Given the description of an element on the screen output the (x, y) to click on. 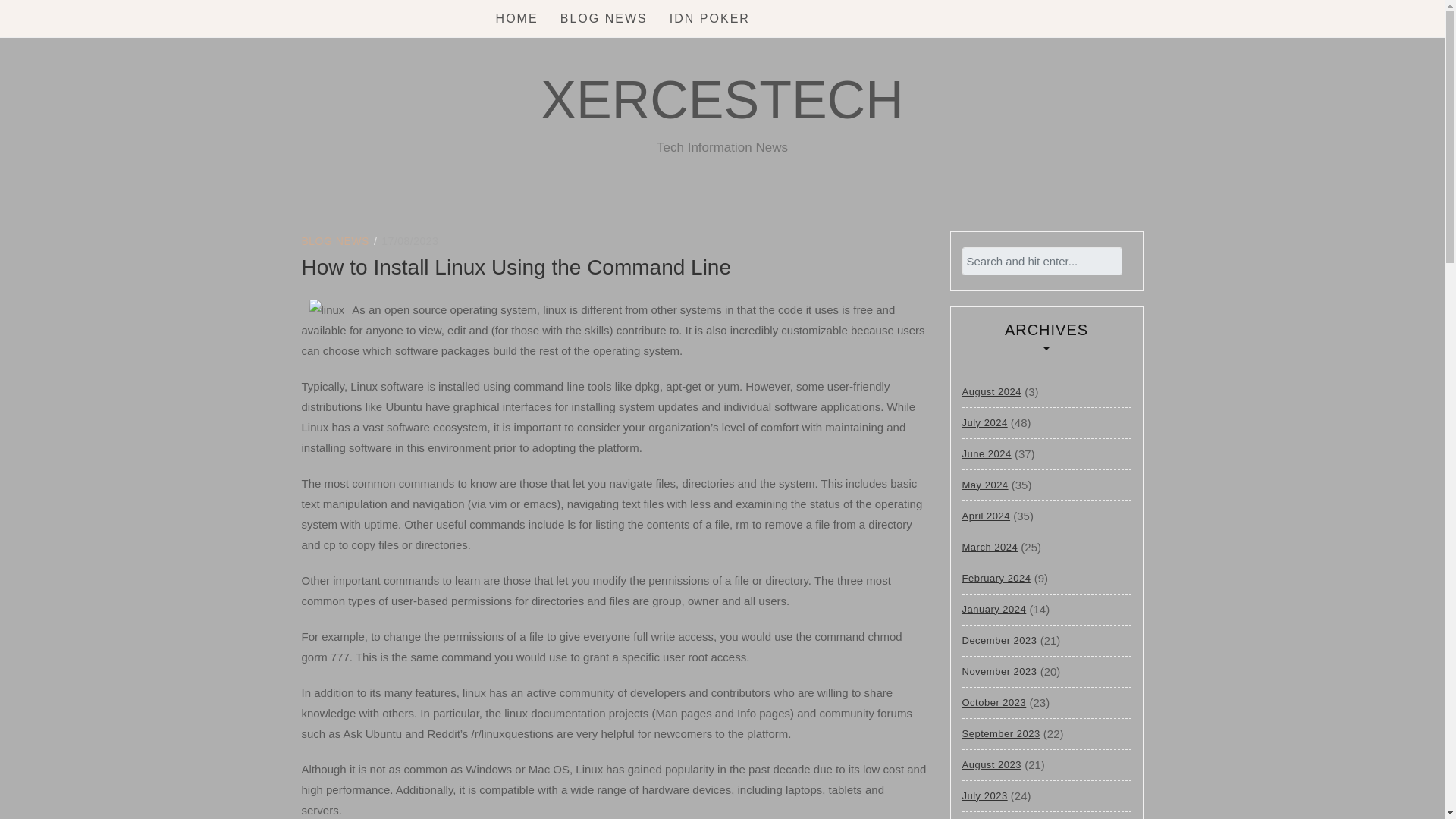
February 2024 (995, 577)
December 2023 (998, 639)
June 2024 (985, 453)
August 2023 (991, 764)
April 2024 (985, 515)
November 2023 (998, 671)
HOME (517, 18)
July 2024 (983, 422)
March 2024 (988, 547)
July 2023 (983, 796)
BLOG NEWS (335, 241)
IDN POKER (709, 18)
BLOG NEWS (603, 18)
September 2023 (999, 734)
October 2023 (993, 702)
